Given the description of an element on the screen output the (x, y) to click on. 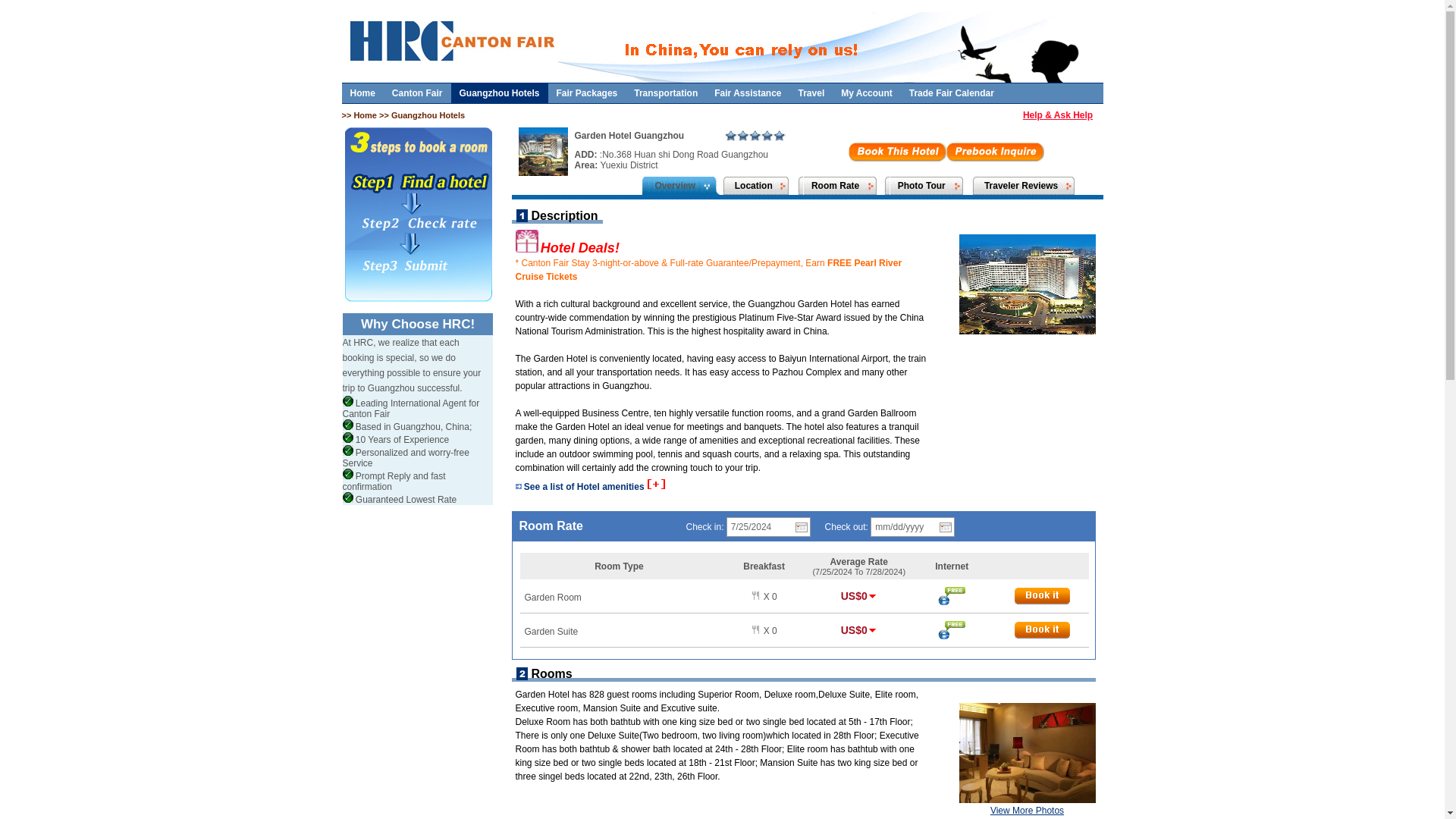
Packages (587, 93)
Free internet access (951, 629)
View More Photos (1043, 812)
Free internet access (951, 596)
Canton Fair hotels  (499, 93)
Transportation (666, 93)
Travel (811, 93)
Transportation (666, 93)
Canton Fair (417, 93)
Guangzhou Hotels (499, 93)
My Account (866, 93)
Trade Fair Calendar (952, 93)
Room Rate (834, 185)
Location (754, 185)
Fair Assistance (747, 93)
